Given the description of an element on the screen output the (x, y) to click on. 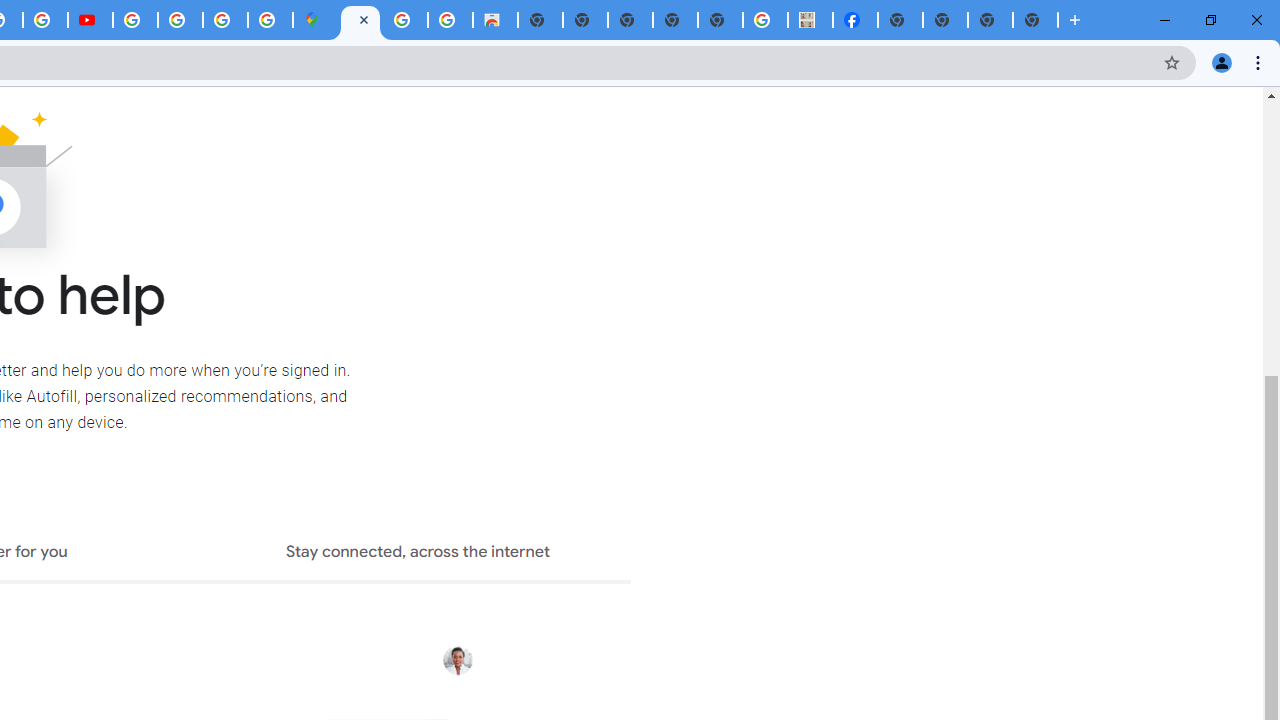
New Tab (1035, 20)
How Chrome protects your passwords - Google Chrome Help (134, 20)
Chrome Web Store - Shopping (495, 20)
Google Maps (315, 20)
